Given the description of an element on the screen output the (x, y) to click on. 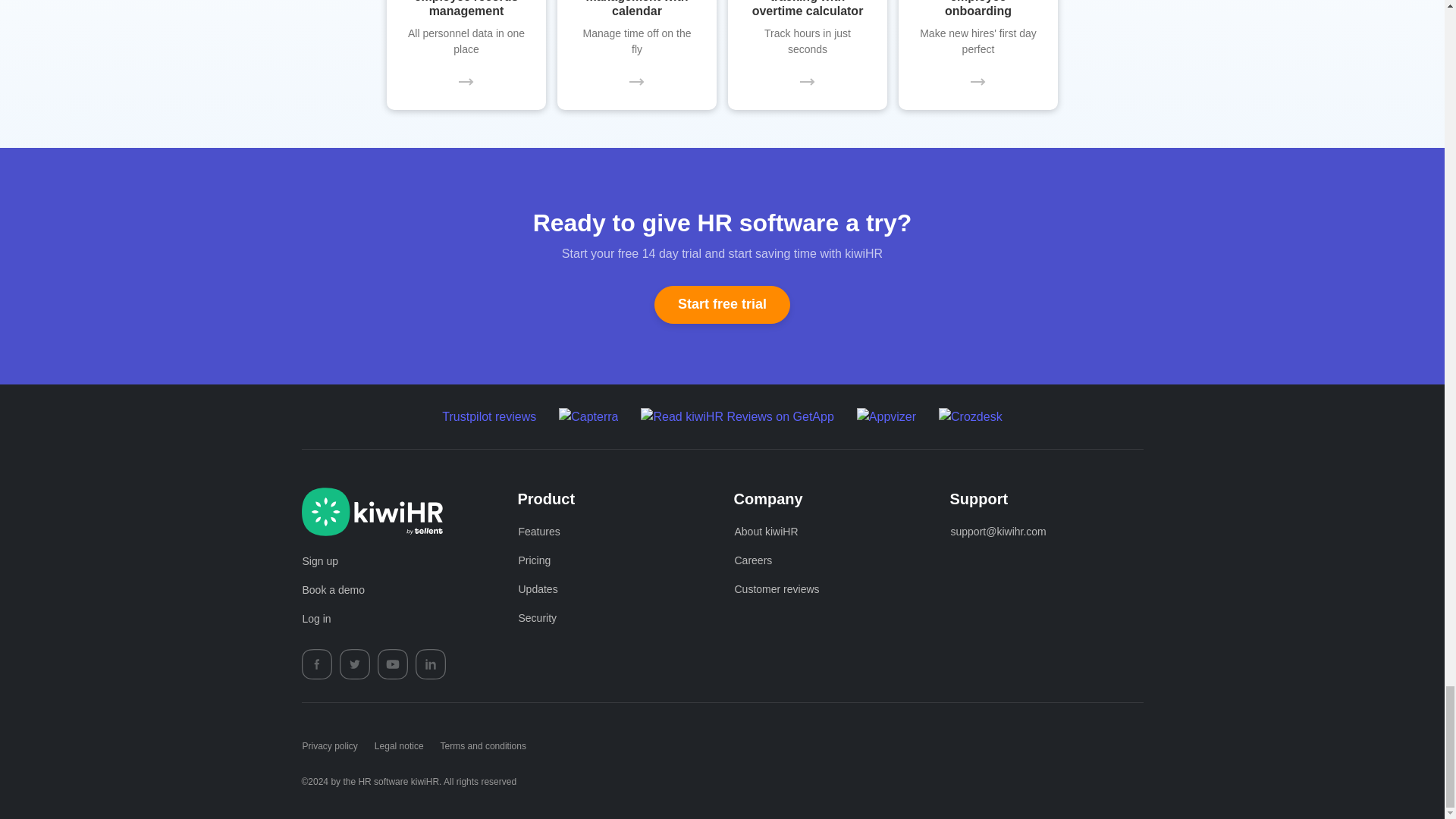
hr-software-kiwihr-en-inversed (371, 511)
Security and privacy (536, 618)
Sign in (316, 619)
